Given the description of an element on the screen output the (x, y) to click on. 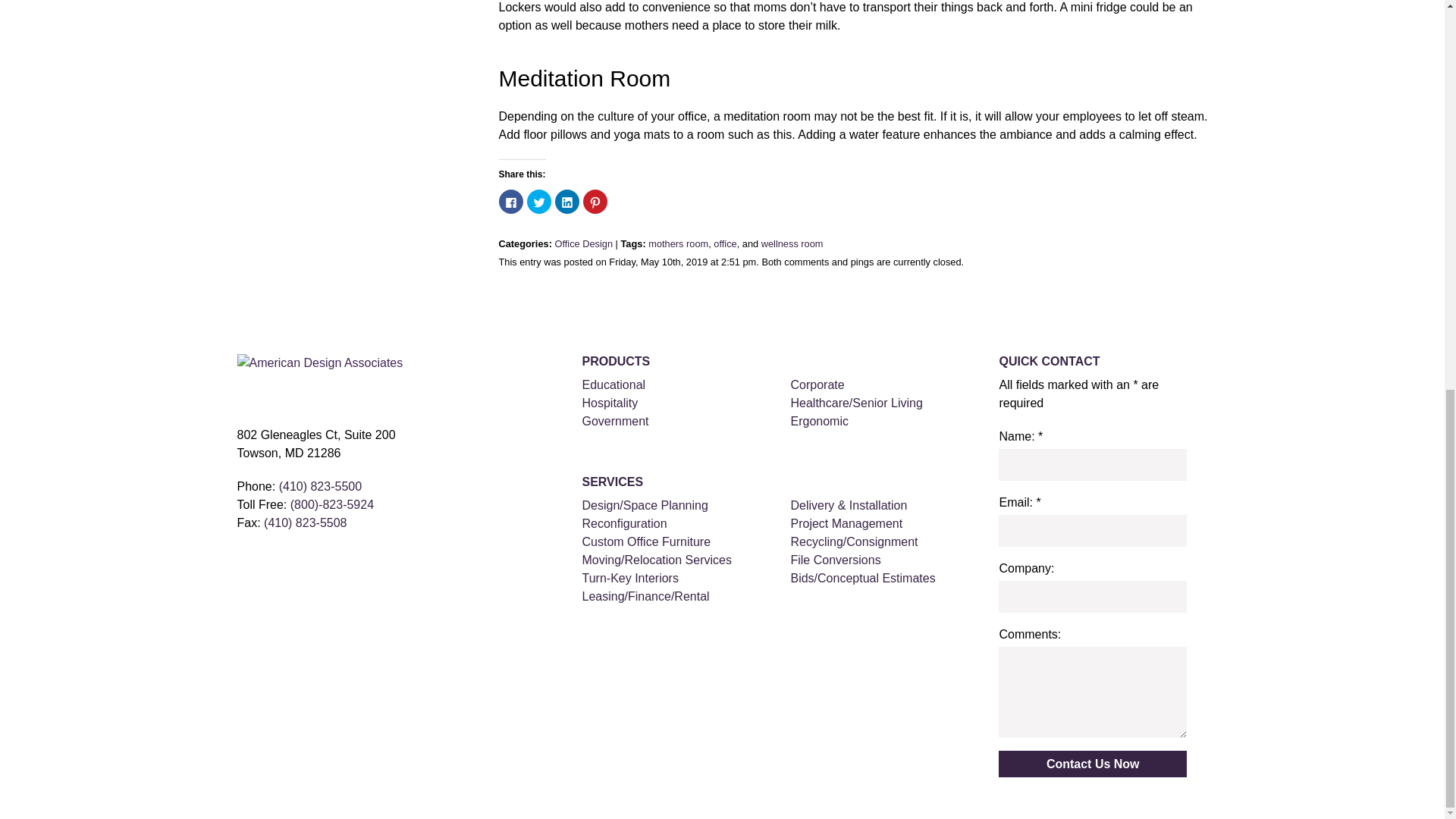
Click to share on Twitter (537, 201)
Click to share on Pinterest (594, 201)
American Design Associates (323, 385)
Click to share on LinkedIn (566, 201)
Click to share on Facebook (510, 201)
Contact Us Now (1092, 764)
